Given the description of an element on the screen output the (x, y) to click on. 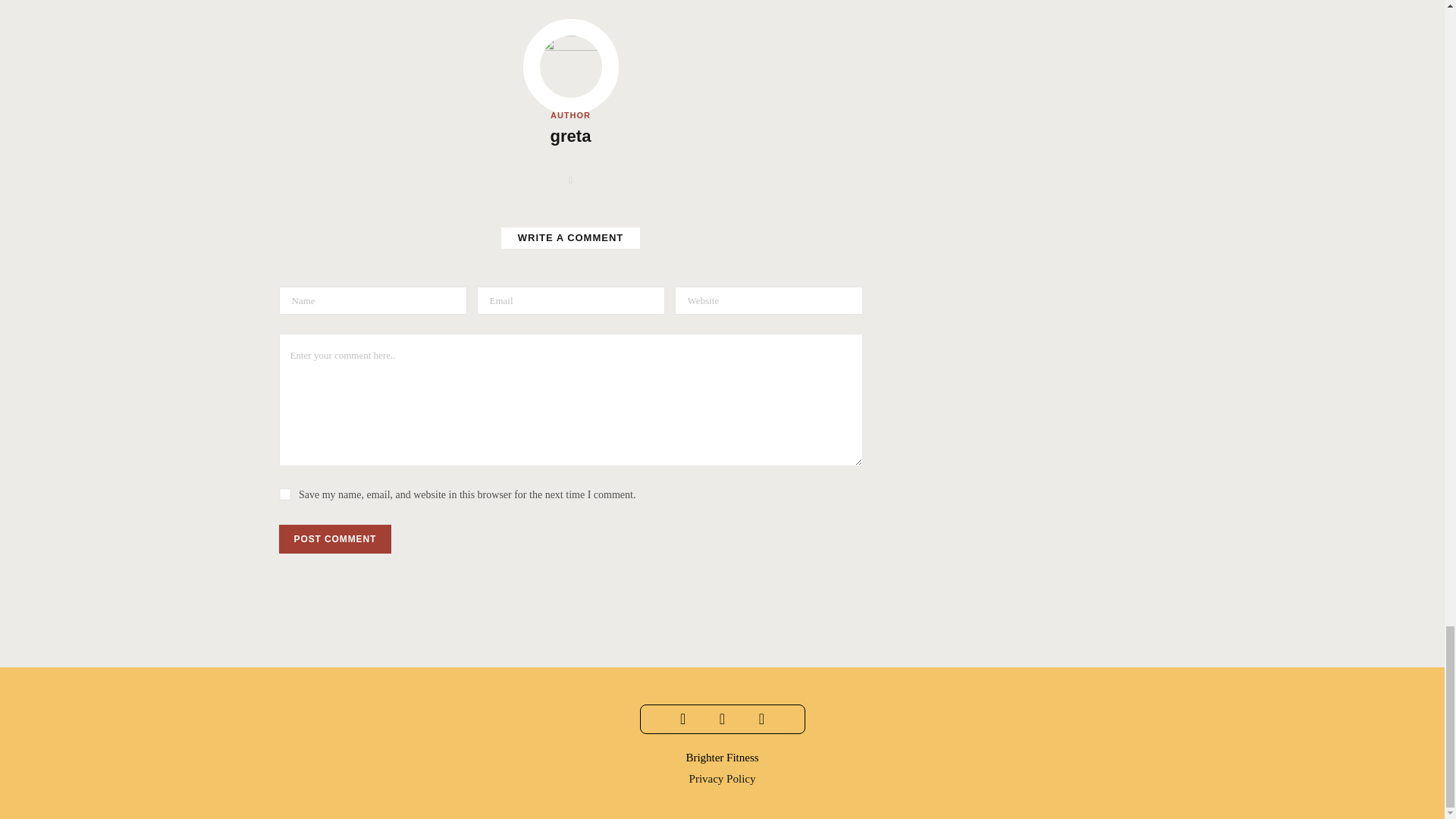
Post Comment (335, 538)
Post Comment (335, 538)
yes (285, 494)
greta (570, 136)
